Given the description of an element on the screen output the (x, y) to click on. 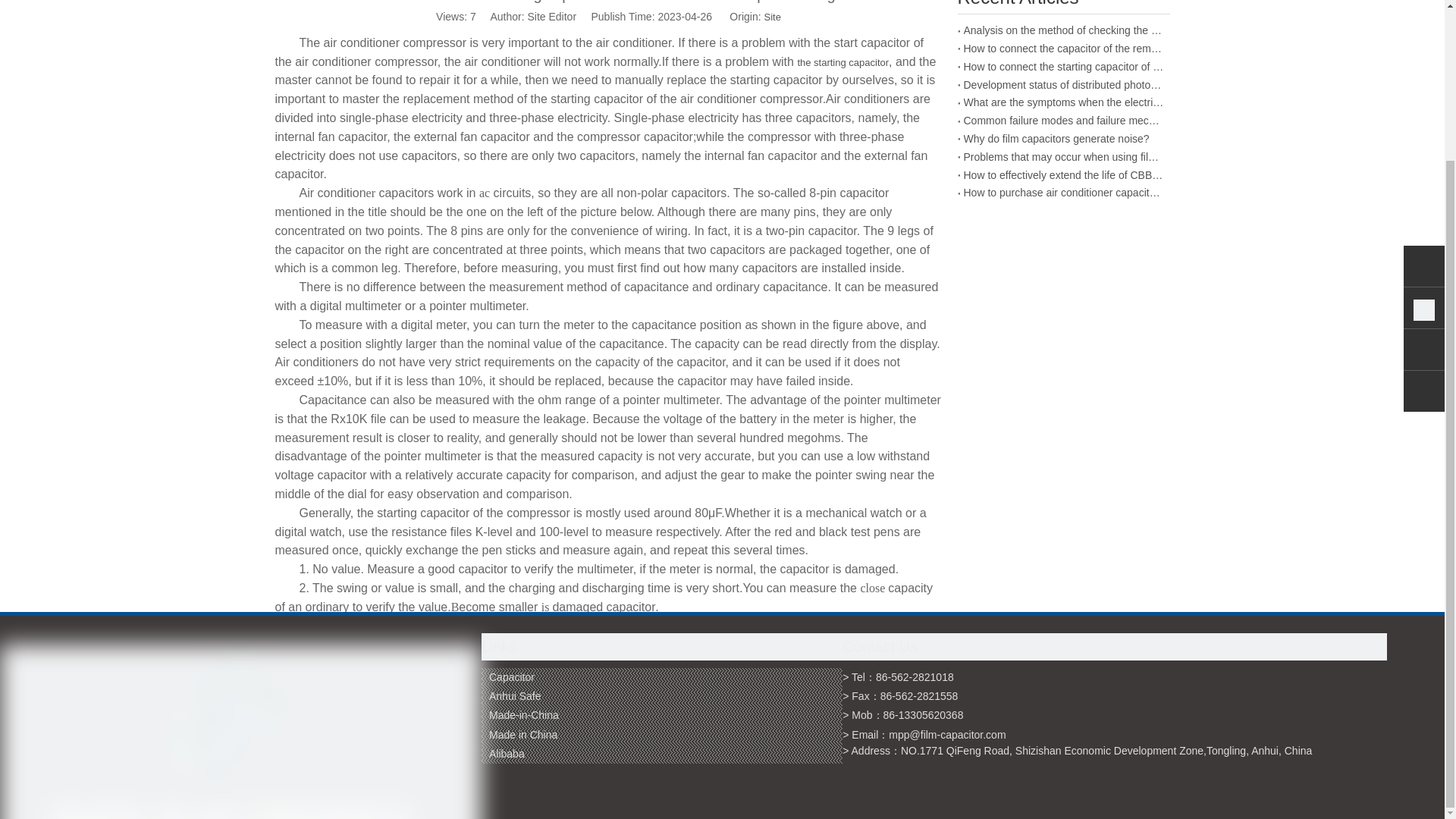
Why do film capacitors generate noise? (1062, 139)
How to purchase air conditioner capacitors? (1062, 193)
Common failure modes and failure mechanisms of capacitors (1062, 121)
Analysis on the method of checking the compressor capacitor (1062, 31)
Problems that may occur when using film capacitors (1062, 157)
How to effectively extend the life of CBB capacitors (1062, 176)
